Given the description of an element on the screen output the (x, y) to click on. 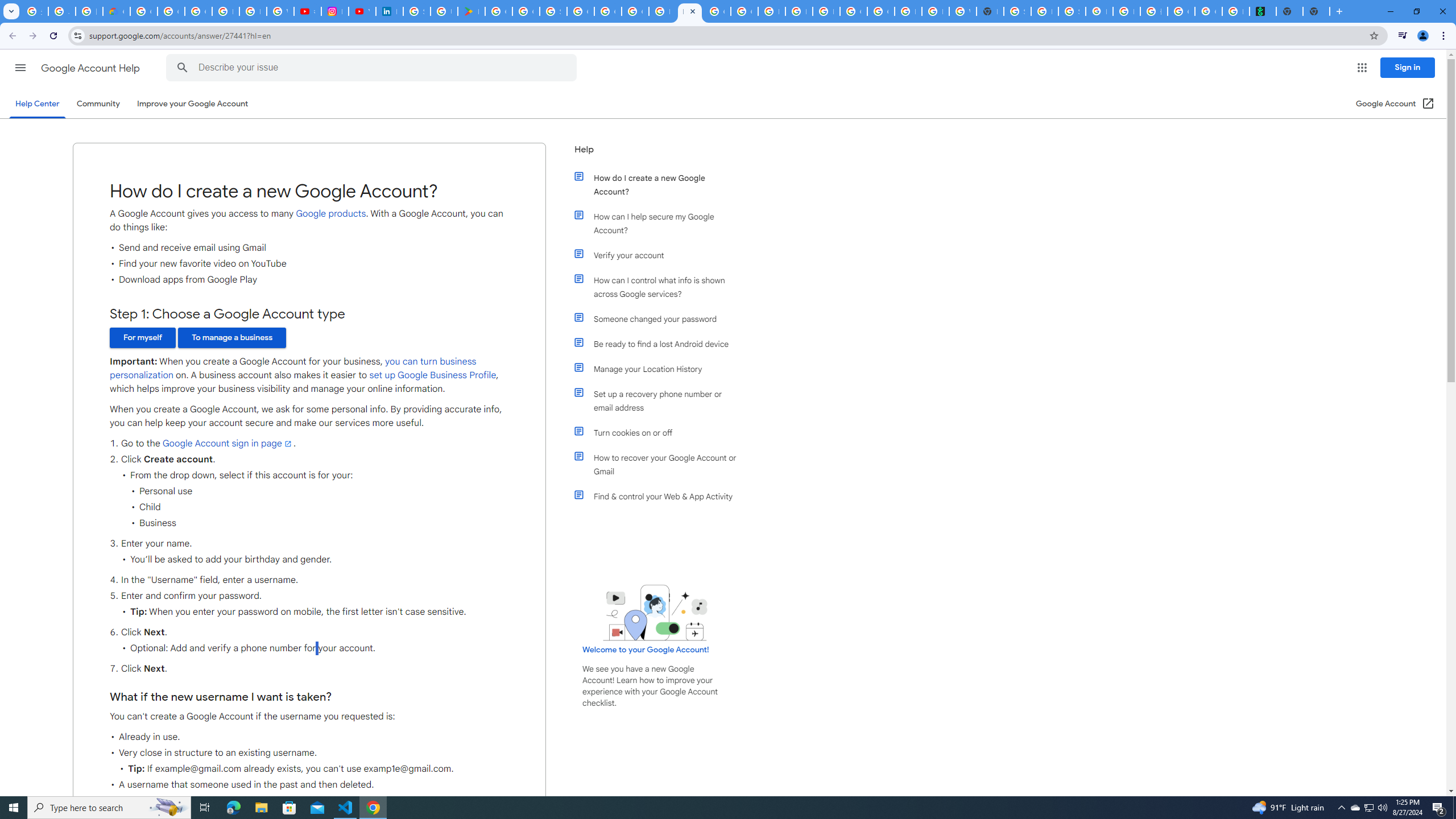
For myself (142, 337)
How can I control what info is shown across Google services? (661, 286)
Someone changed your password (661, 318)
Sign in - Google Accounts (416, 11)
Last Shelter: Survival - Apps on Google Play (471, 11)
Privacy Help Center - Policies Help (253, 11)
Browse Chrome as a guest - Computer - Google Chrome Help (799, 11)
Google Cloud Platform (580, 11)
